Given the description of an element on the screen output the (x, y) to click on. 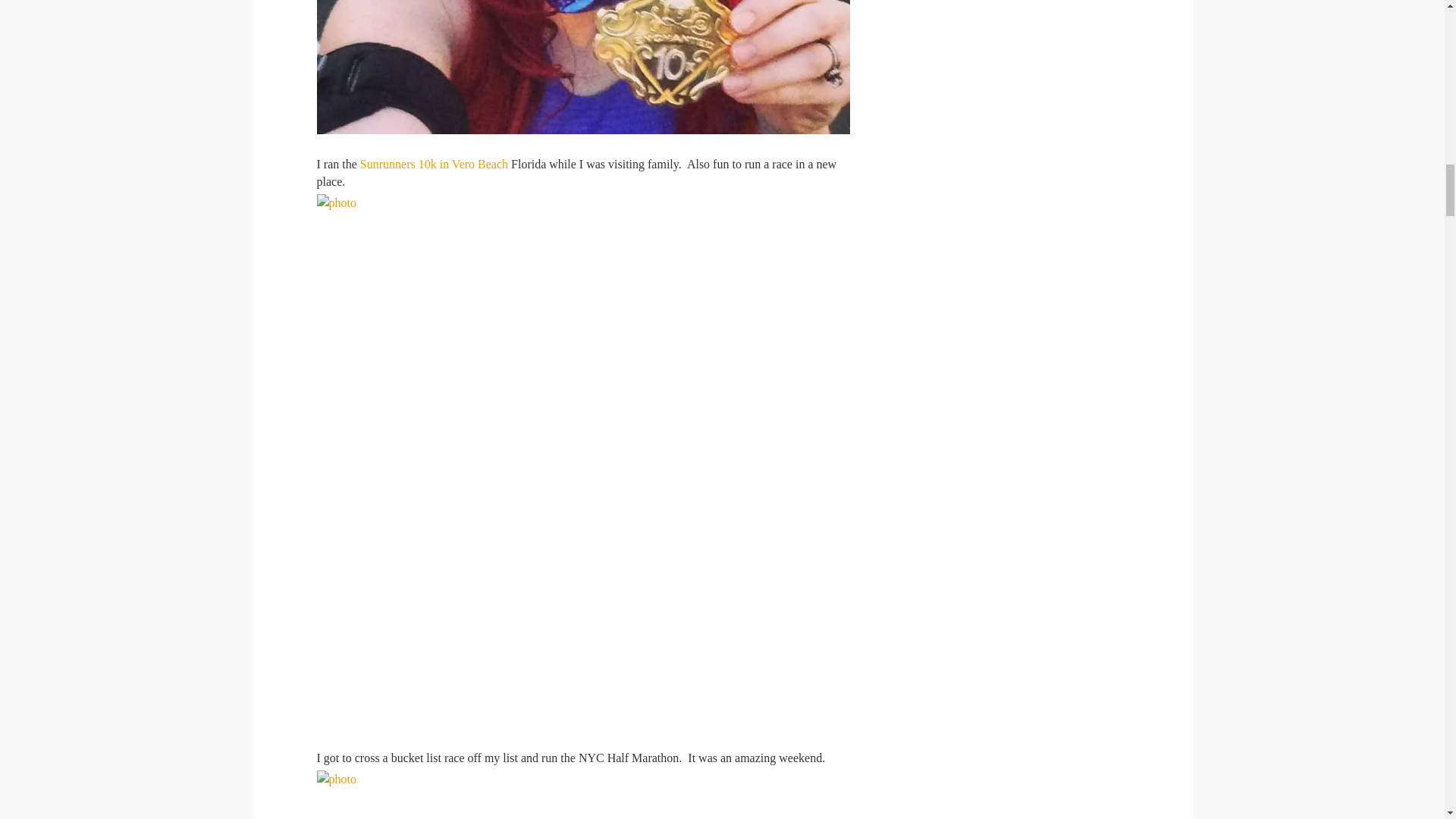
Sunrunners 10k in Vero Beach (433, 164)
